Given the description of an element on the screen output the (x, y) to click on. 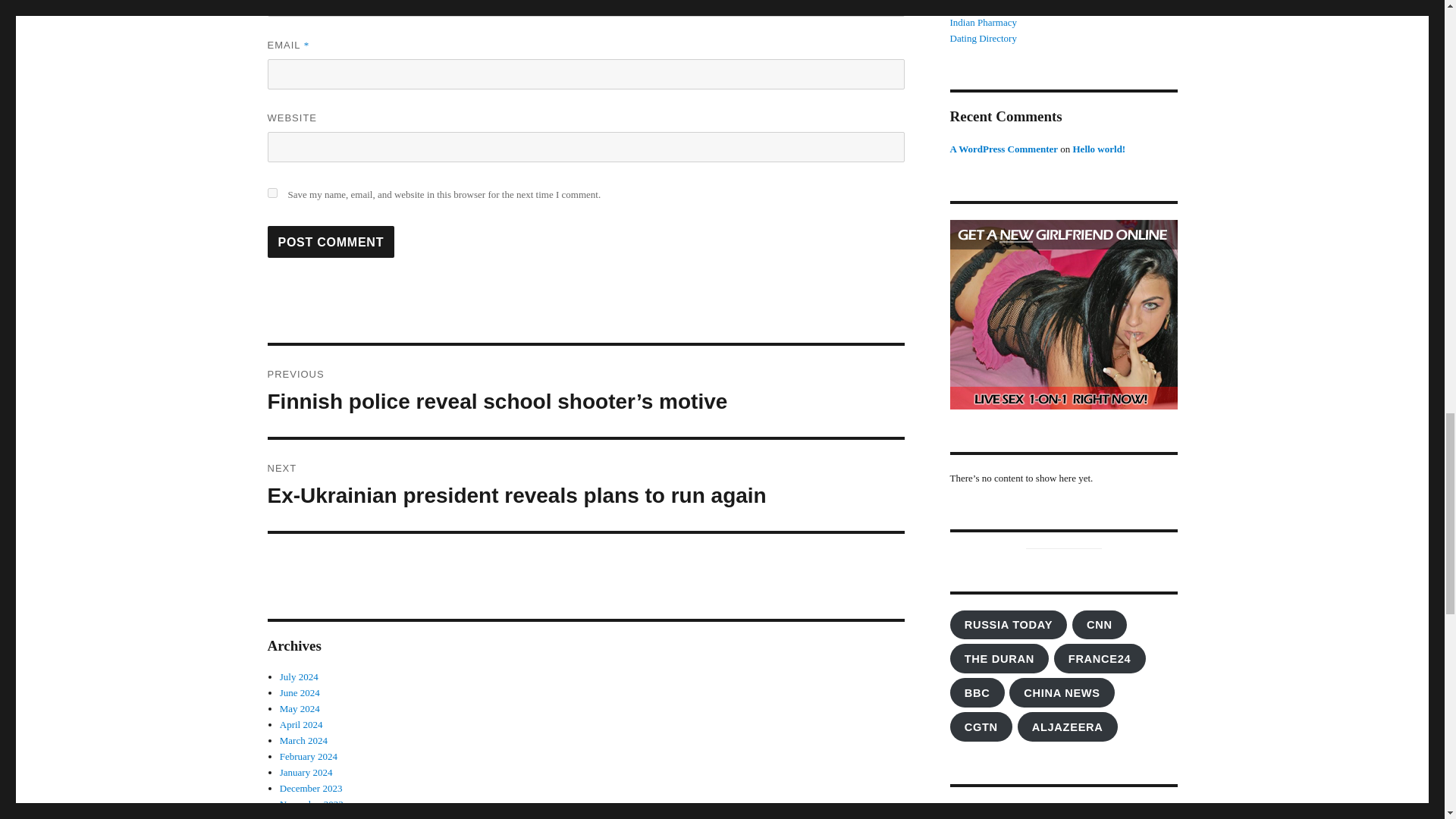
July 2024 (298, 676)
April 2024 (301, 724)
November 2023 (311, 803)
Post Comment (330, 241)
Adult Dating (1043, 811)
yes (271, 193)
October 2023 (306, 816)
January 2024 (306, 772)
February 2024 (308, 756)
March 2024 (303, 740)
June 2024 (299, 692)
May 2024 (299, 708)
December 2023 (310, 787)
Post Comment (330, 241)
